Given the description of an element on the screen output the (x, y) to click on. 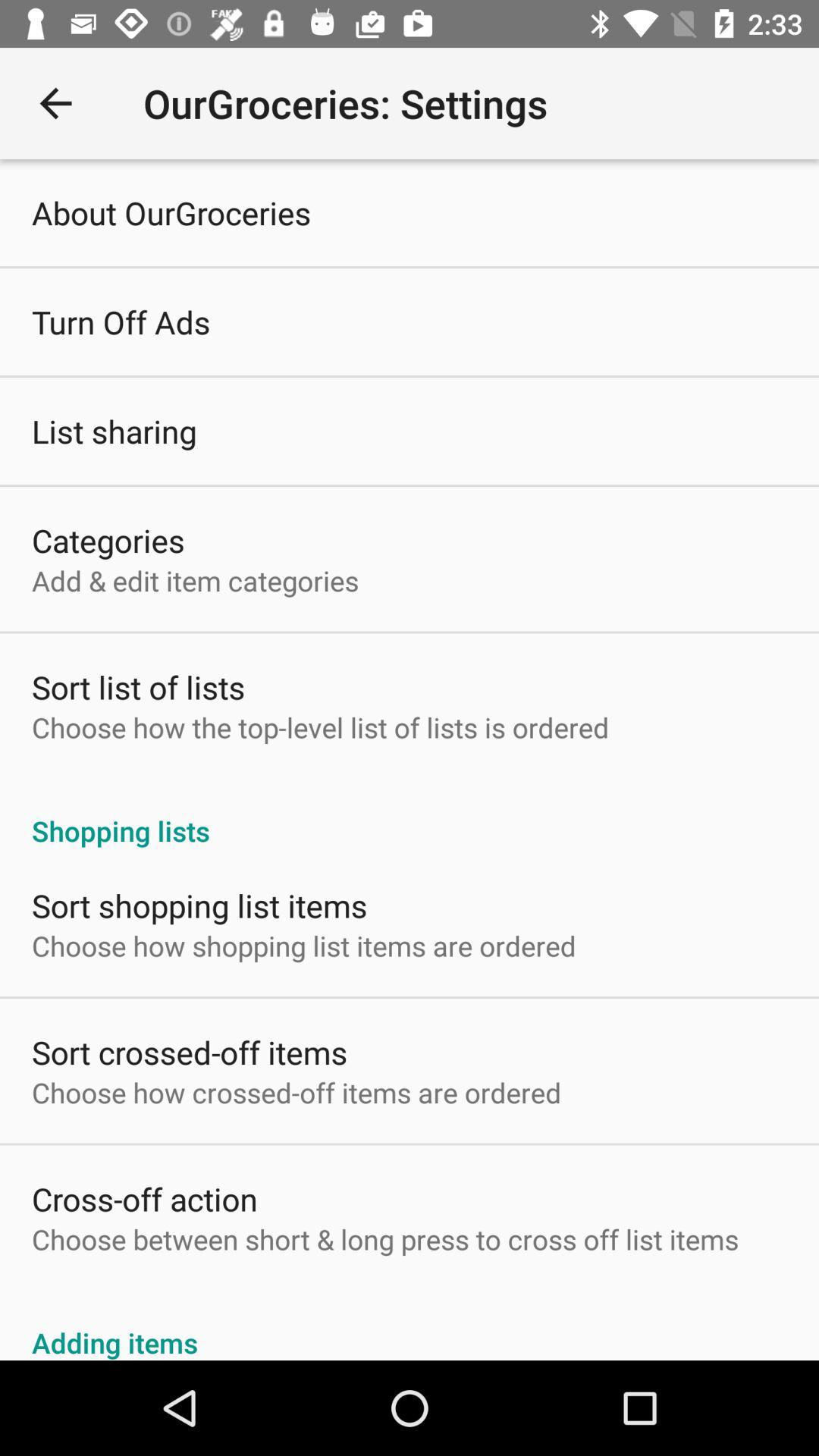
jump to the shopping lists icon (409, 814)
